Given the description of an element on the screen output the (x, y) to click on. 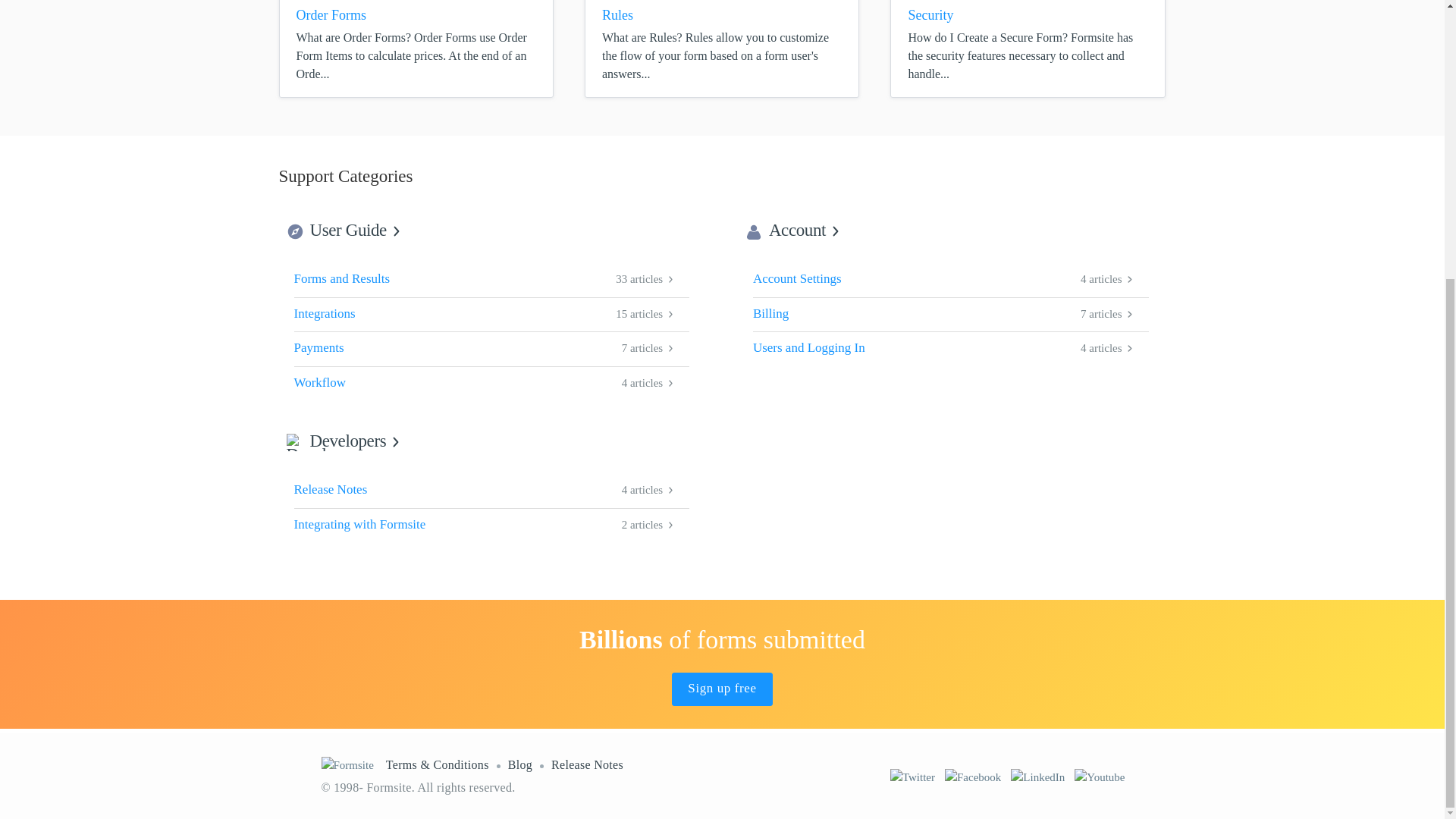
Account (492, 525)
Home (492, 349)
Release Notes (796, 230)
